Given the description of an element on the screen output the (x, y) to click on. 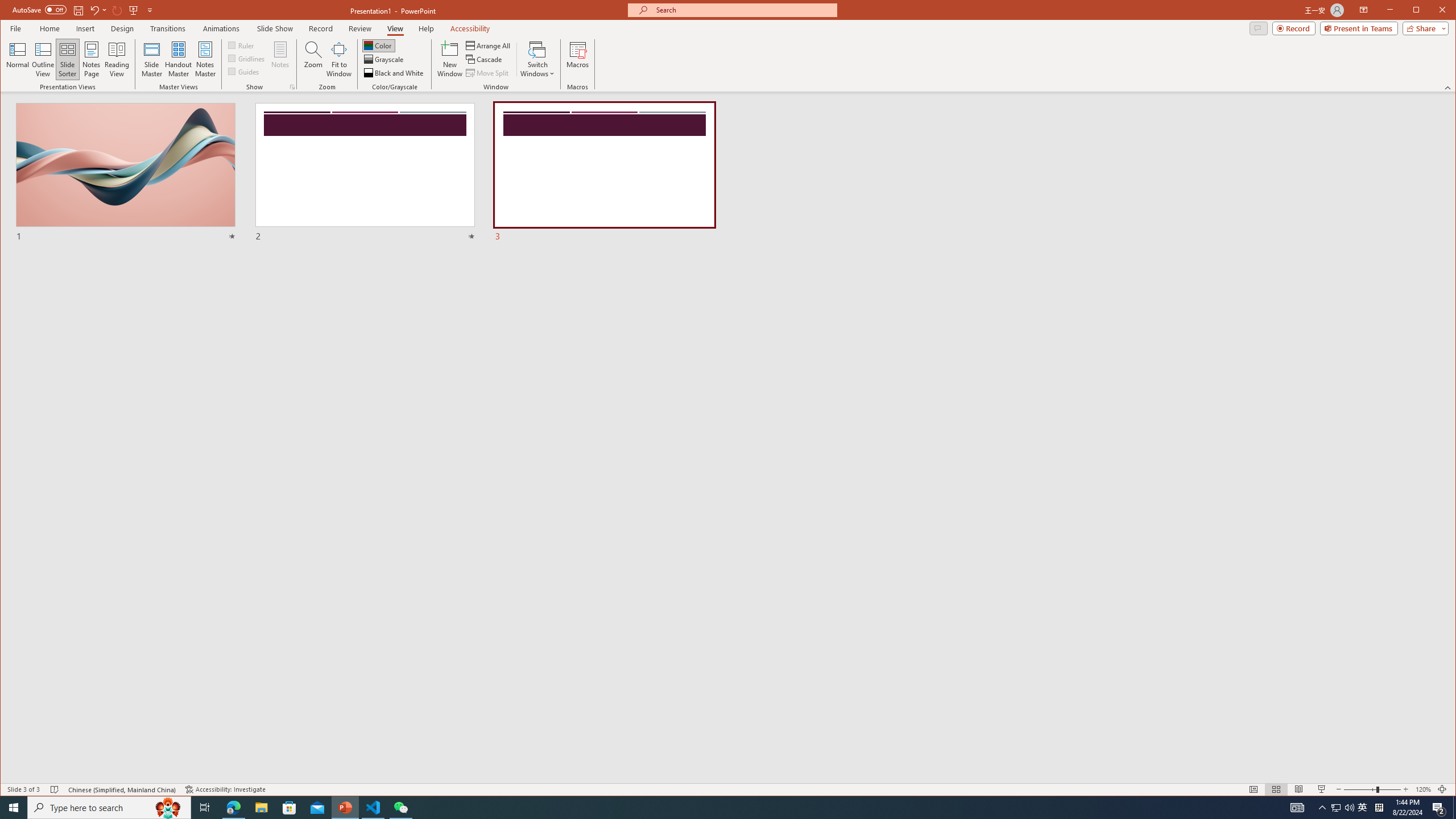
Guides (243, 70)
Arrange All (488, 45)
Notes (279, 59)
Zoom 120% (1422, 789)
